Given the description of an element on the screen output the (x, y) to click on. 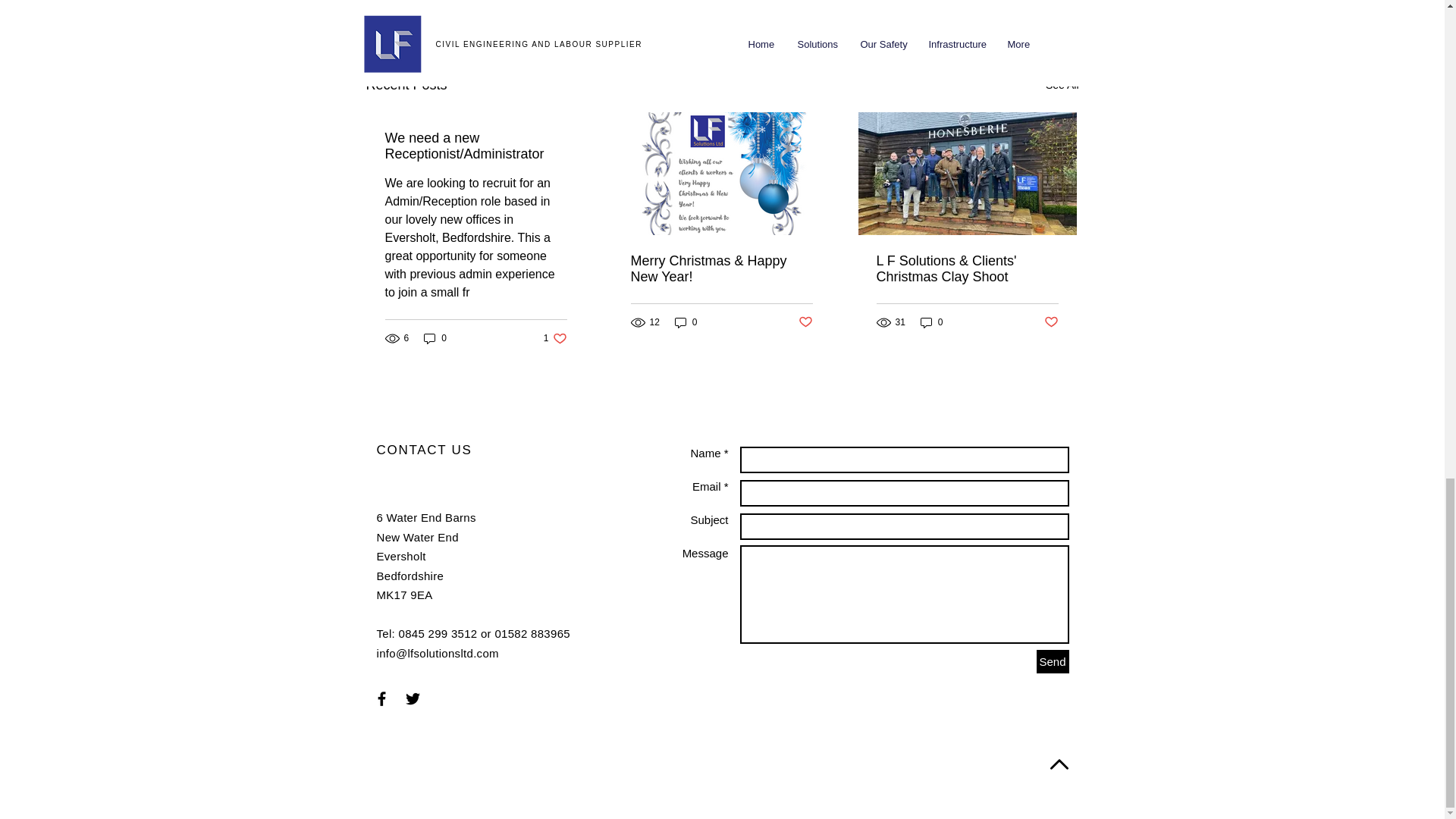
Post not marked as liked (995, 5)
0 (555, 338)
See All (435, 338)
0 (1061, 85)
Post not marked as liked (685, 321)
